Given the description of an element on the screen output the (x, y) to click on. 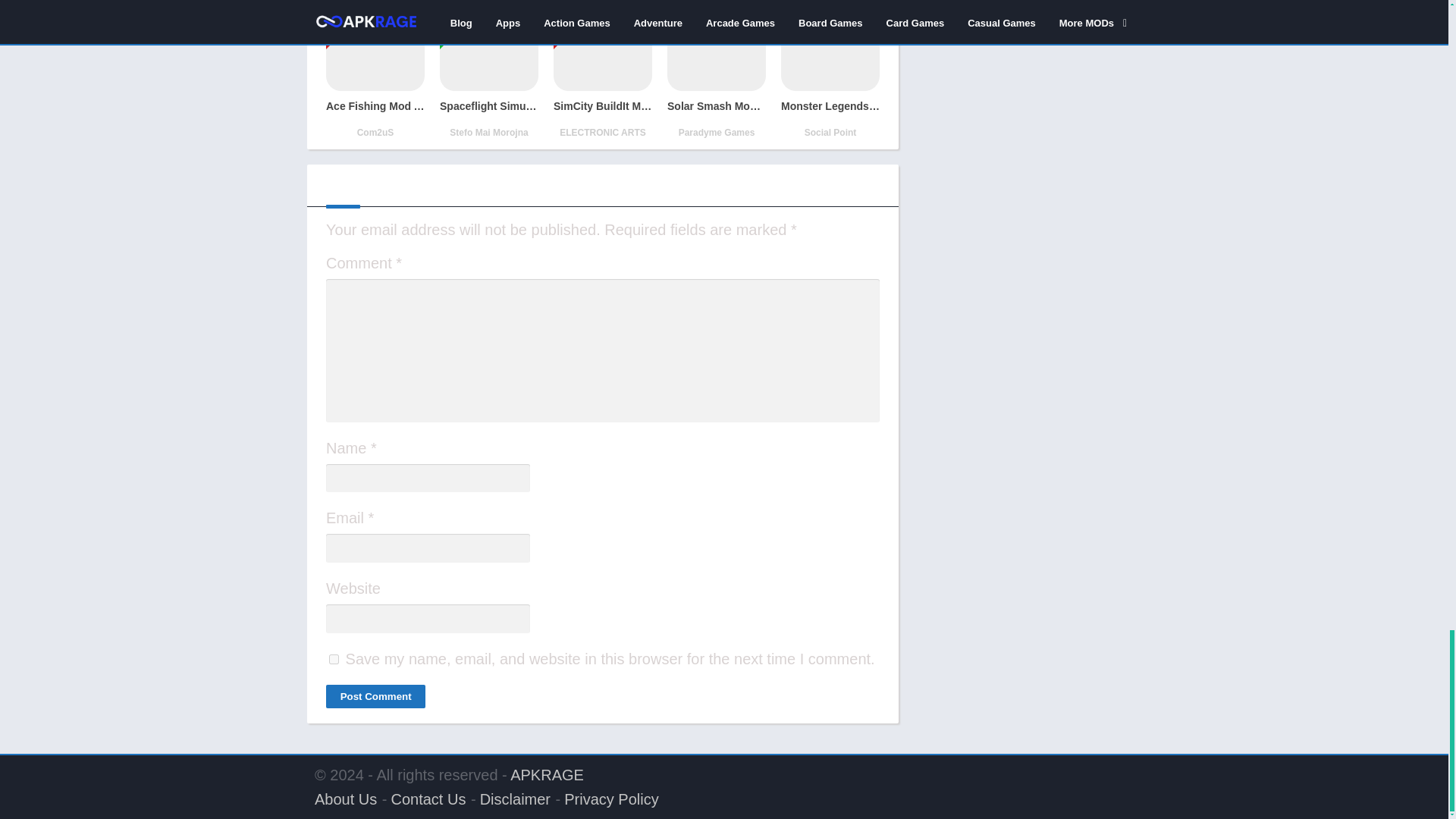
Post Comment (375, 696)
yes (334, 659)
